Given the description of an element on the screen output the (x, y) to click on. 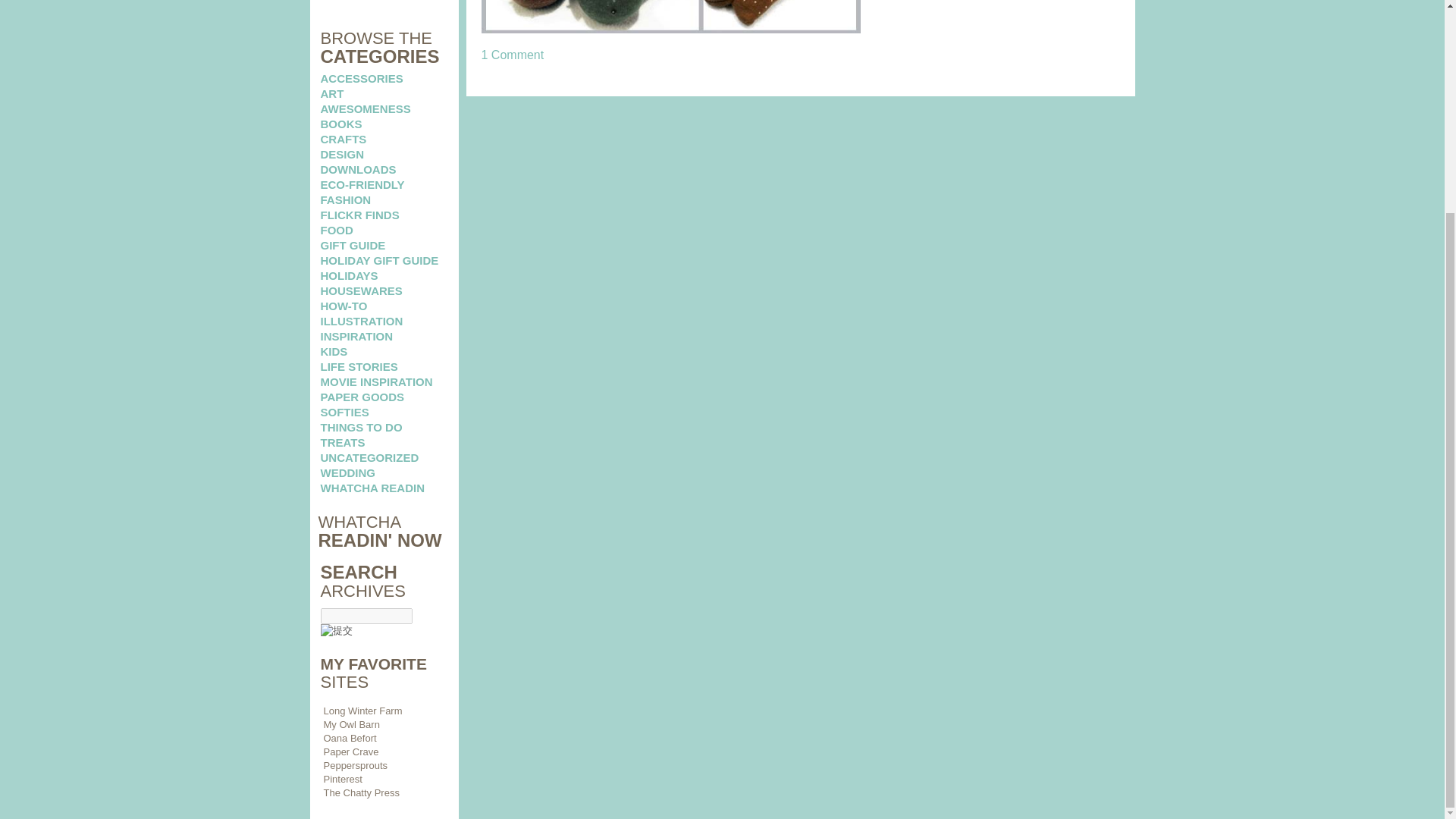
Oana Befort (349, 737)
FASHION (345, 199)
ACCESSORIES (361, 78)
ART (331, 92)
AWESOMENESS (365, 108)
WEDDING (347, 472)
KIDS (333, 350)
FLICKR FINDS (359, 214)
LIFE STORIES (358, 366)
WHATCHA READIN (371, 487)
THINGS TO DO (360, 427)
TREATS (342, 441)
My Owl Barn (350, 724)
Long Winter Farm (362, 710)
FOOD (336, 229)
